Given the description of an element on the screen output the (x, y) to click on. 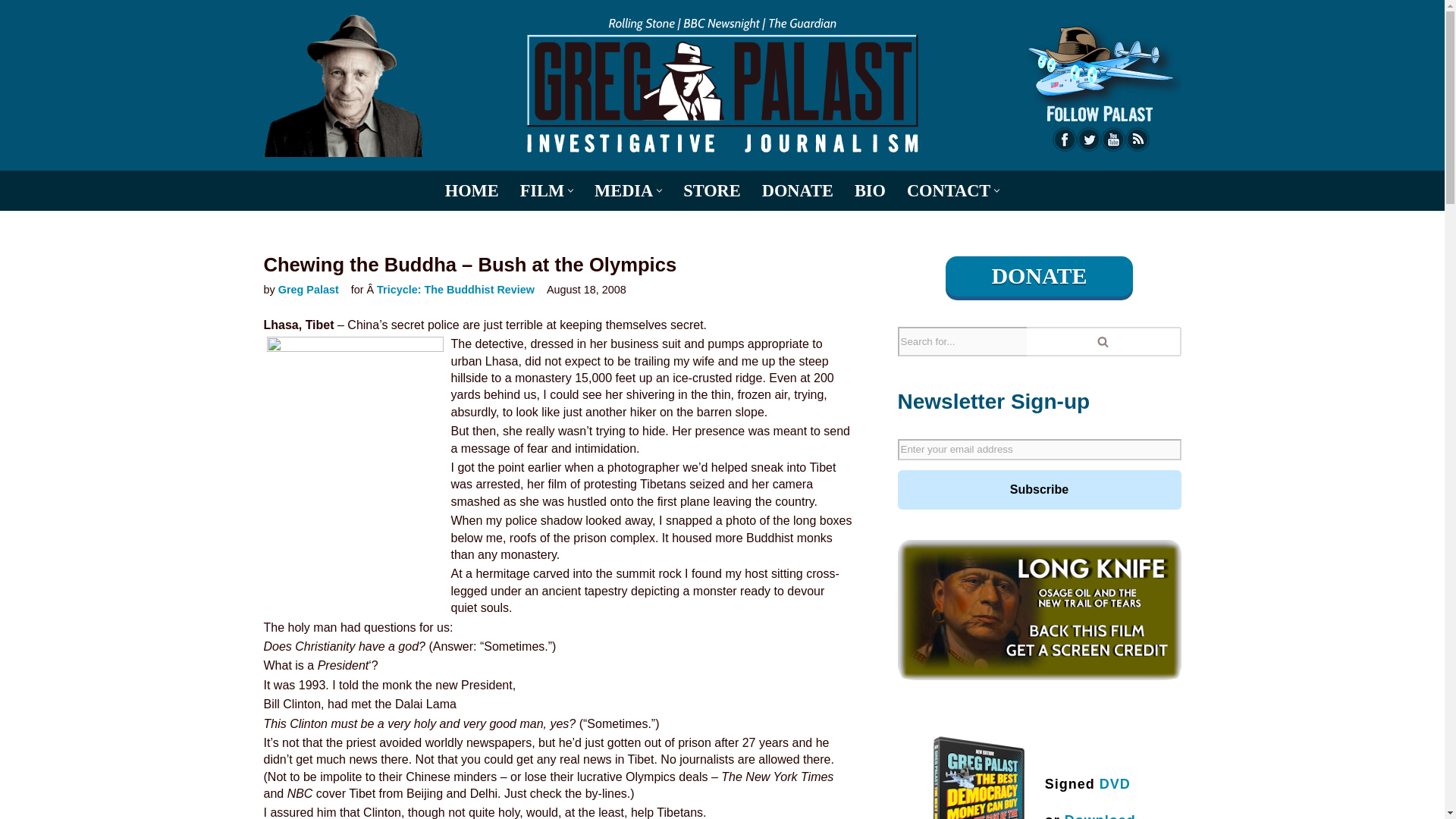
BIO (869, 190)
STORE (711, 190)
HOME (472, 190)
Skip to content (11, 31)
FILM (541, 190)
CONTACT (948, 190)
MEDIA (623, 190)
DONATE (796, 190)
Subscribe (1039, 489)
